Given the description of an element on the screen output the (x, y) to click on. 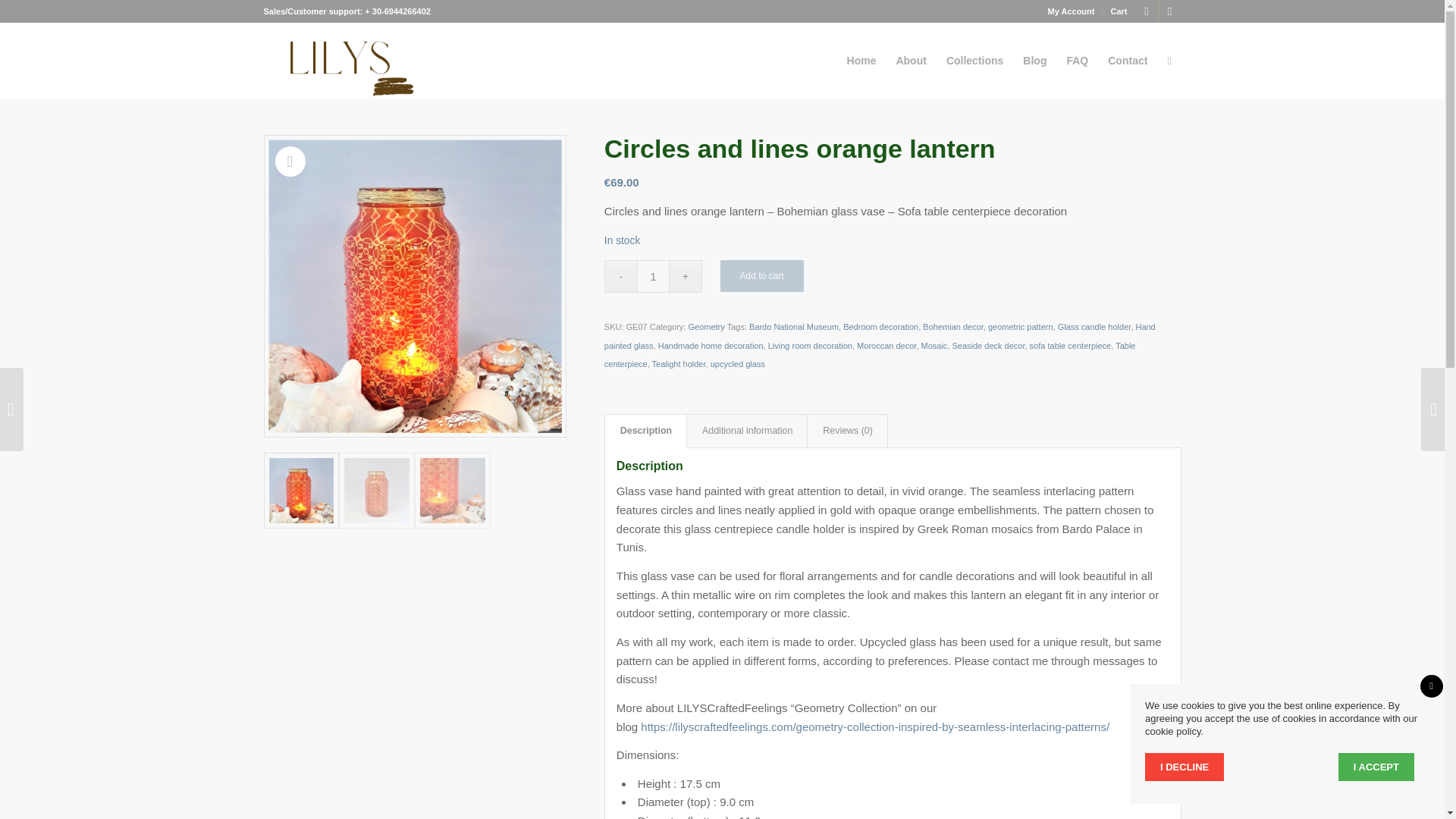
Bardo National Museum (793, 326)
Description (645, 430)
Bohemian decor (953, 326)
Additional information (746, 430)
Instagram (1169, 11)
Bedroom decoration (880, 326)
1 (653, 276)
Geometry (705, 326)
Pinterest (1146, 11)
LILYS-logo-website-new-no-plaisio-transparent (346, 60)
Add to cart (761, 275)
geometric pattern (1020, 326)
Circles and lines orange lantern (414, 286)
Handmade home decoration (710, 345)
My Account (1071, 11)
